Given the description of an element on the screen output the (x, y) to click on. 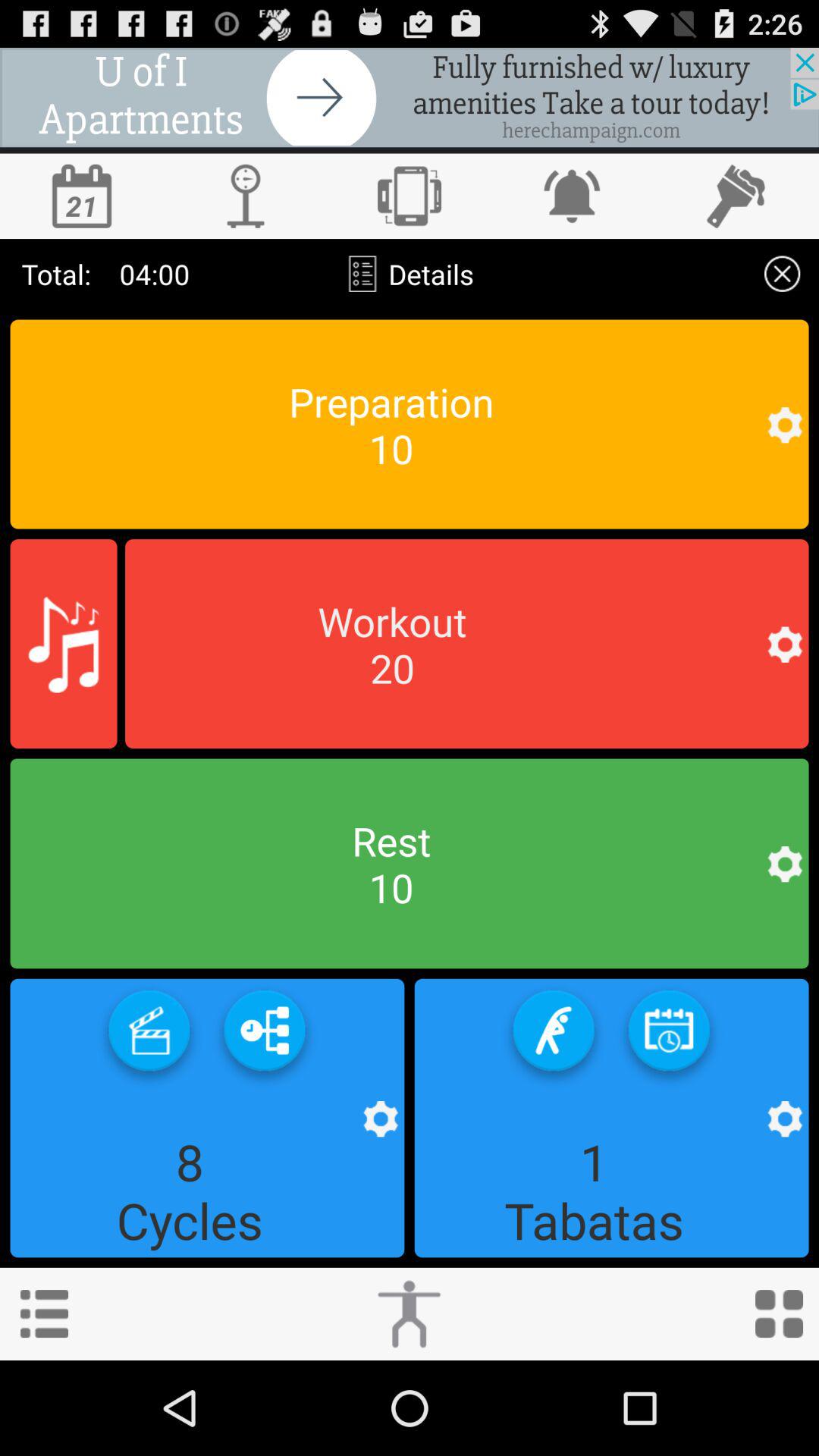
go to menu option (44, 1313)
